Given the description of an element on the screen output the (x, y) to click on. 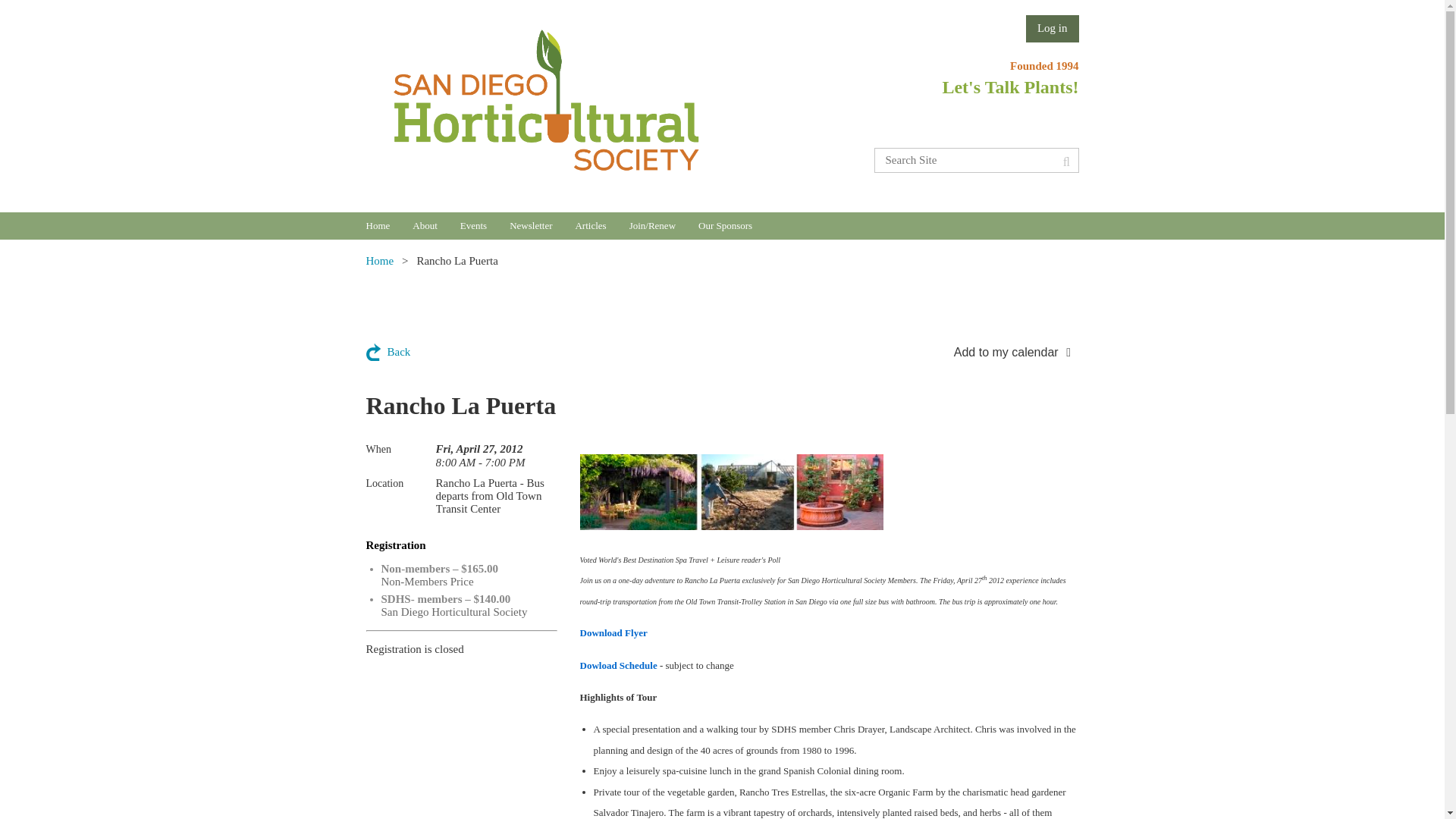
About (436, 225)
Our Sponsors (736, 225)
About (436, 225)
Home (379, 260)
Log in (1052, 28)
Events (484, 225)
Back (387, 352)
Articles (601, 225)
Home (388, 225)
Newsletter (542, 225)
